Given the description of an element on the screen output the (x, y) to click on. 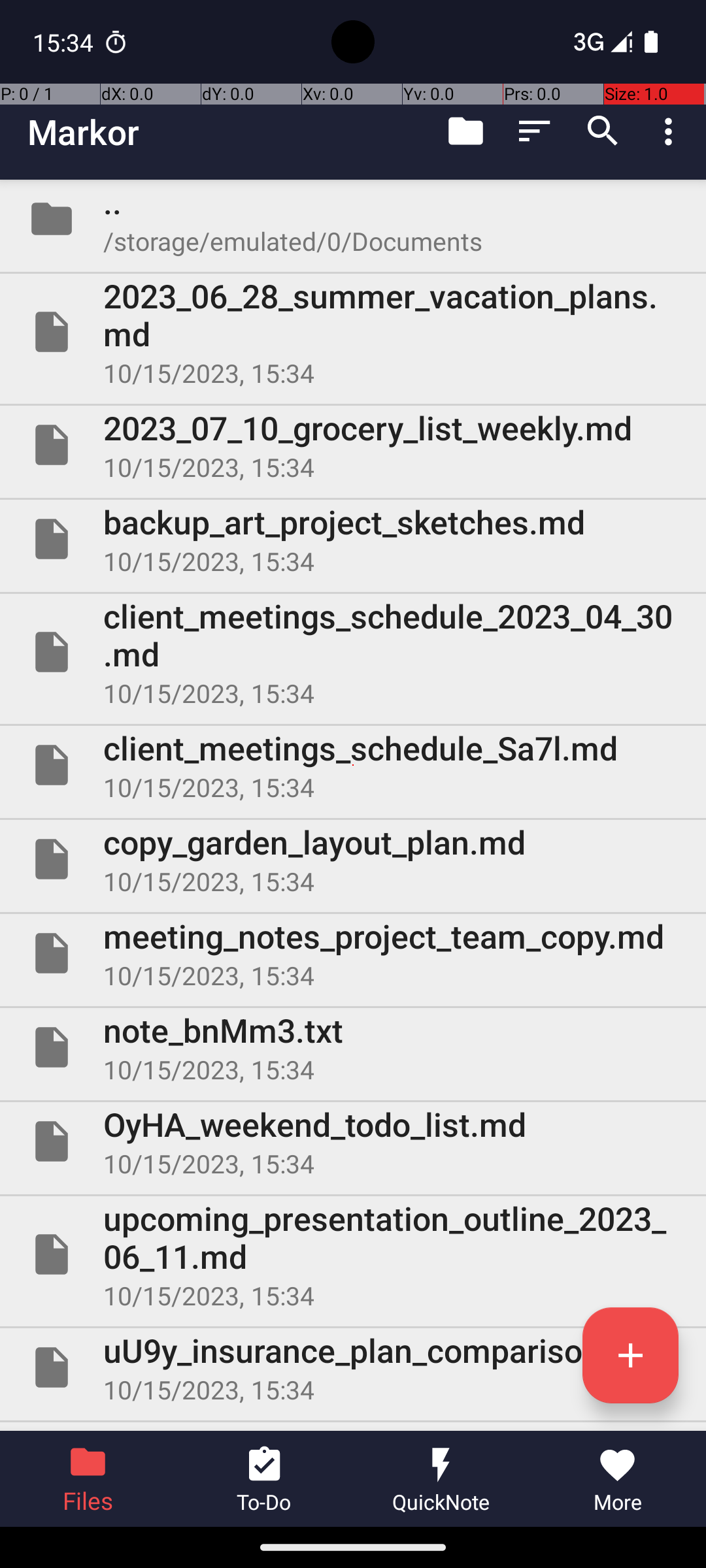
File 2023_06_28_summer_vacation_plans.md  Element type: android.widget.LinearLayout (353, 331)
File 2023_07_10_grocery_list_weekly.md  Element type: android.widget.LinearLayout (353, 444)
File backup_art_project_sketches.md  Element type: android.widget.LinearLayout (353, 538)
File client_meetings_schedule_2023_04_30.md  Element type: android.widget.LinearLayout (353, 651)
File client_meetings_schedule_Sa7l.md  Element type: android.widget.LinearLayout (353, 764)
File copy_garden_layout_plan.md  Element type: android.widget.LinearLayout (353, 858)
File meeting_notes_project_team_copy.md  Element type: android.widget.LinearLayout (353, 953)
File note_bnMm3.txt  Element type: android.widget.LinearLayout (353, 1047)
File OyHA_weekend_todo_list.md  Element type: android.widget.LinearLayout (353, 1141)
File upcoming_presentation_outline_2023_06_11.md  Element type: android.widget.LinearLayout (353, 1254)
File uU9y_insurance_plan_comparison.md  Element type: android.widget.LinearLayout (353, 1367)
File weekend_todo_list_Rx78.md  Element type: android.widget.LinearLayout (353, 1426)
